Given the description of an element on the screen output the (x, y) to click on. 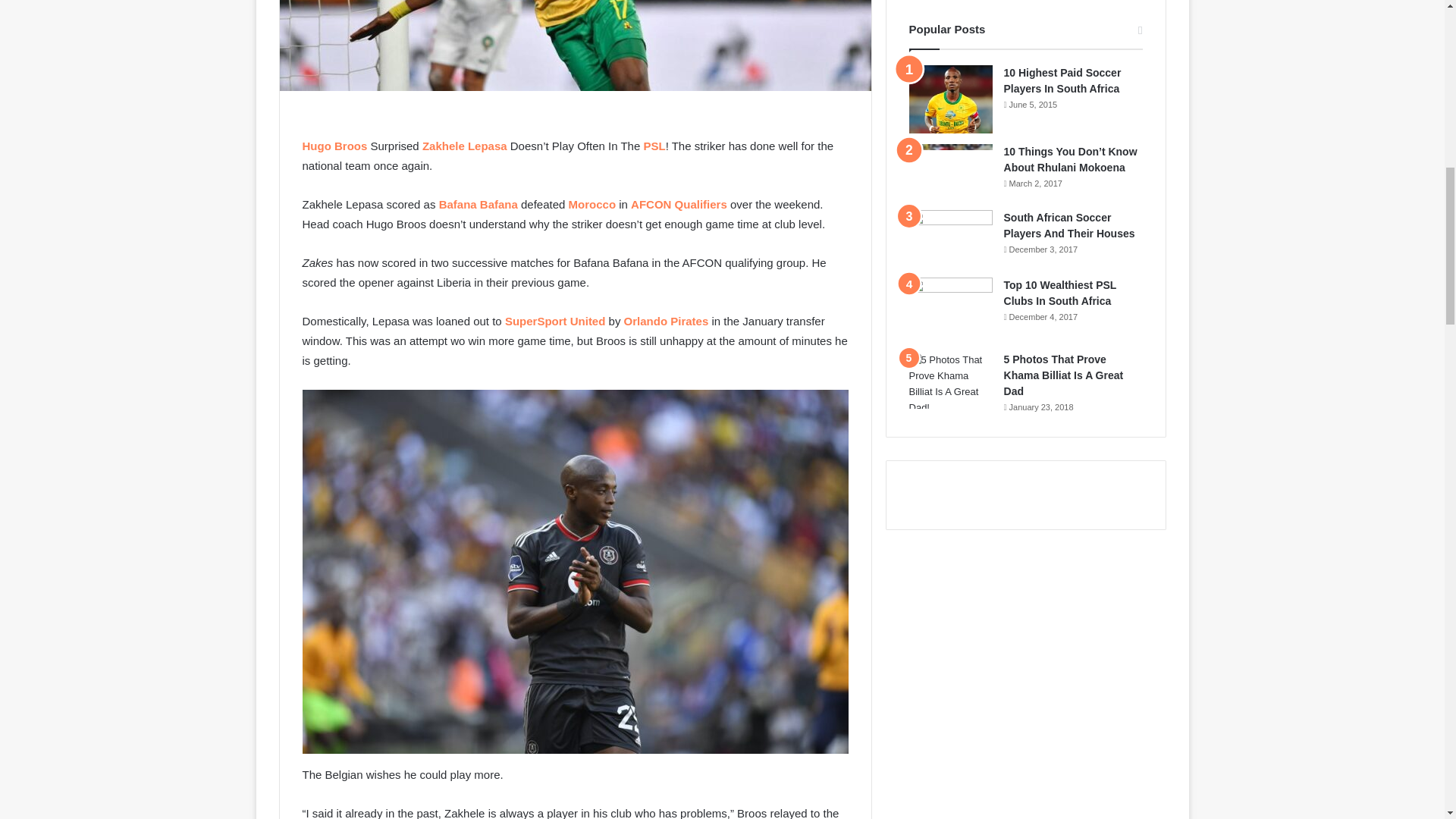
Hugo Broos (333, 145)
PSL (654, 145)
SuperSport United (555, 320)
Orlando Pirates (666, 320)
AFCON Qualifiers (678, 204)
Morocco (592, 204)
Zakhele Lepasa (464, 145)
Bafana Bafana (478, 204)
